Given the description of an element on the screen output the (x, y) to click on. 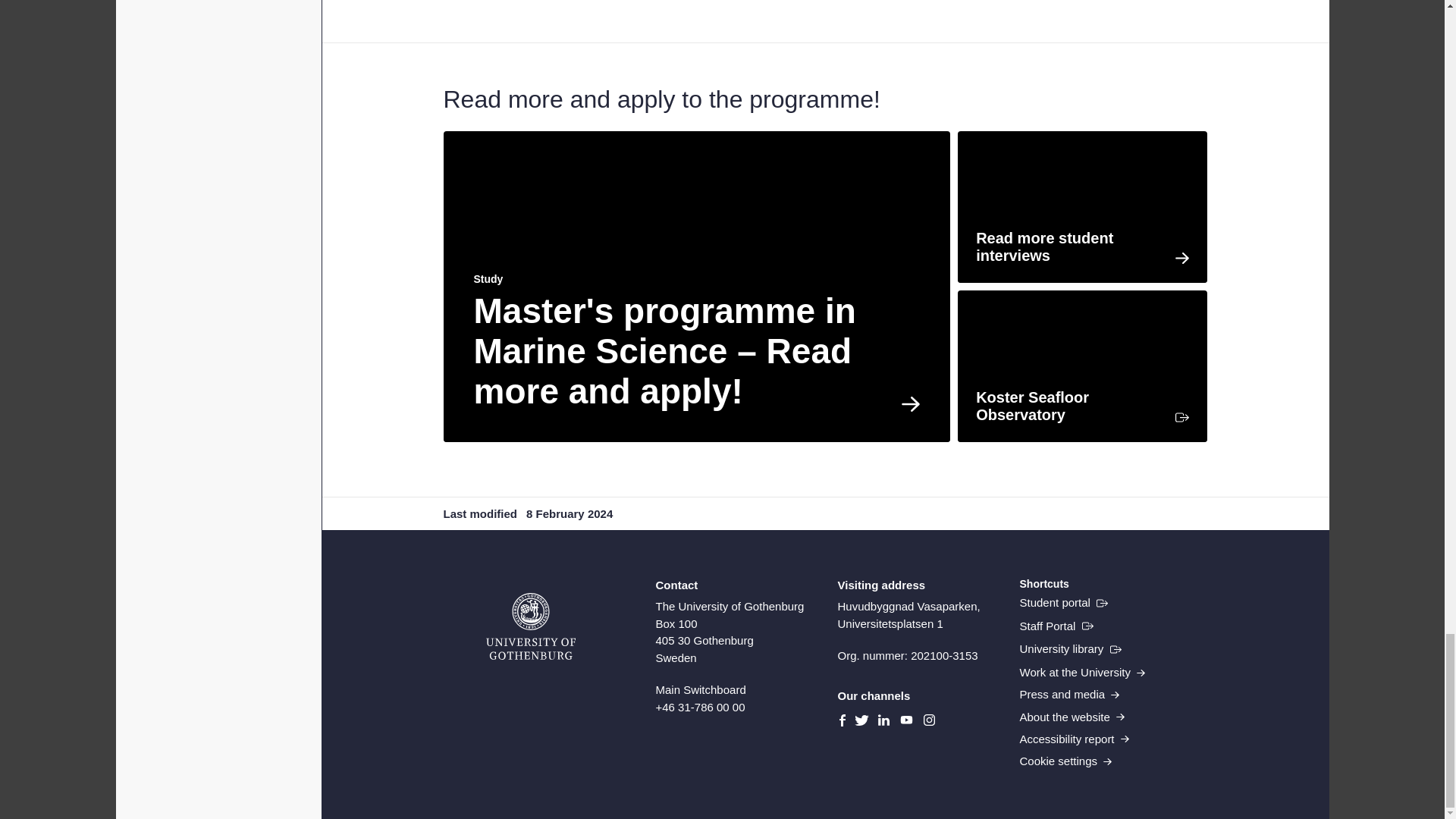
External link (1082, 366)
External link (1063, 602)
External link (1056, 626)
External link (1070, 649)
